Given the description of an element on the screen output the (x, y) to click on. 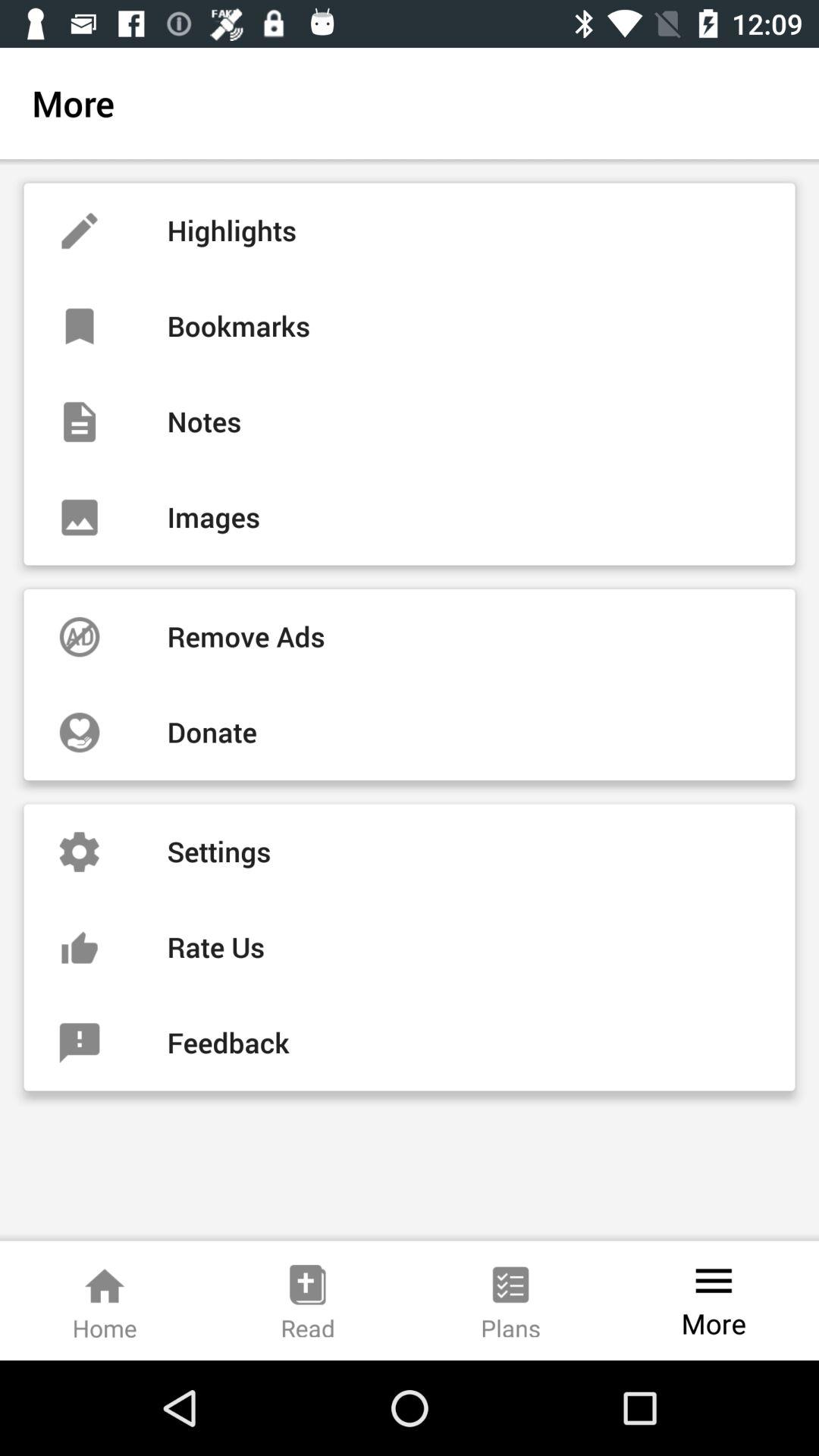
flip to donate (409, 732)
